Given the description of an element on the screen output the (x, y) to click on. 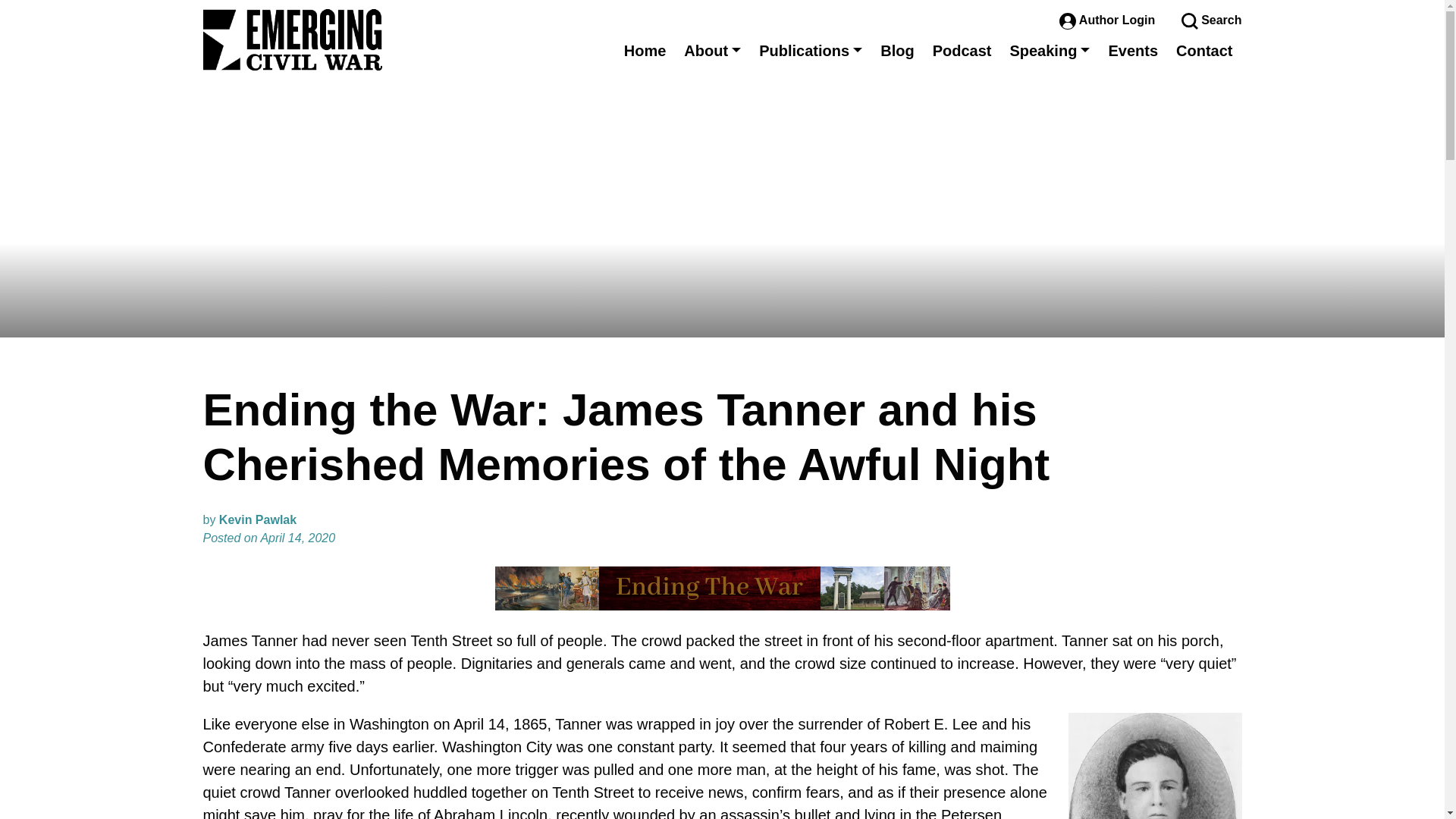
Events (1133, 50)
About (712, 50)
Author Login (1108, 19)
Podcast (962, 50)
Blog (896, 50)
Speaking (1049, 50)
Search (1210, 19)
Kevin Pawlak (258, 519)
Publications (809, 50)
Home (644, 50)
Contact (1204, 50)
